Given the description of an element on the screen output the (x, y) to click on. 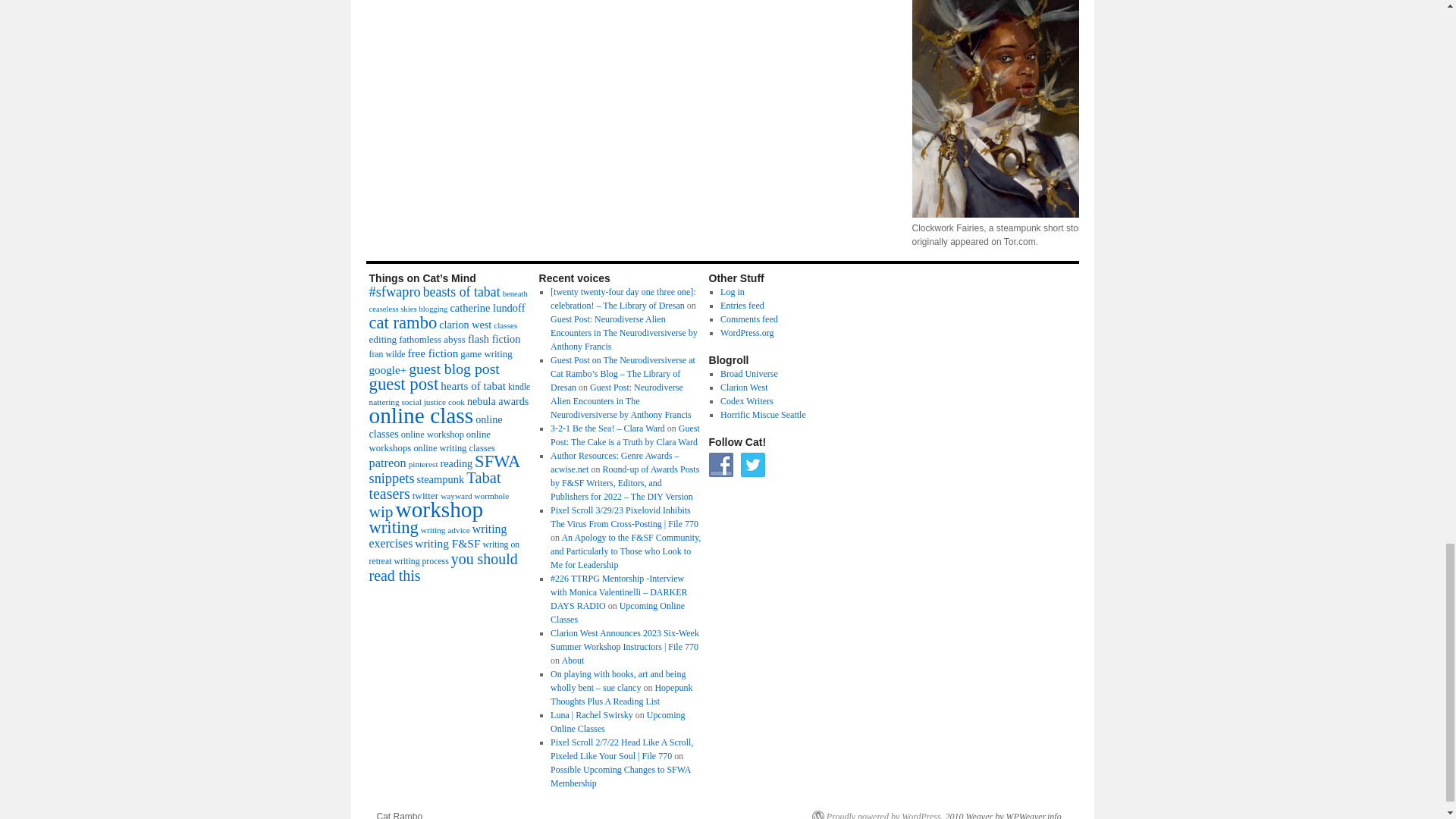
blogging (433, 308)
catherine lundoff (486, 307)
beneath ceaseless skies (447, 300)
cat rambo (402, 322)
beasts of tabat (461, 291)
